Given the description of an element on the screen output the (x, y) to click on. 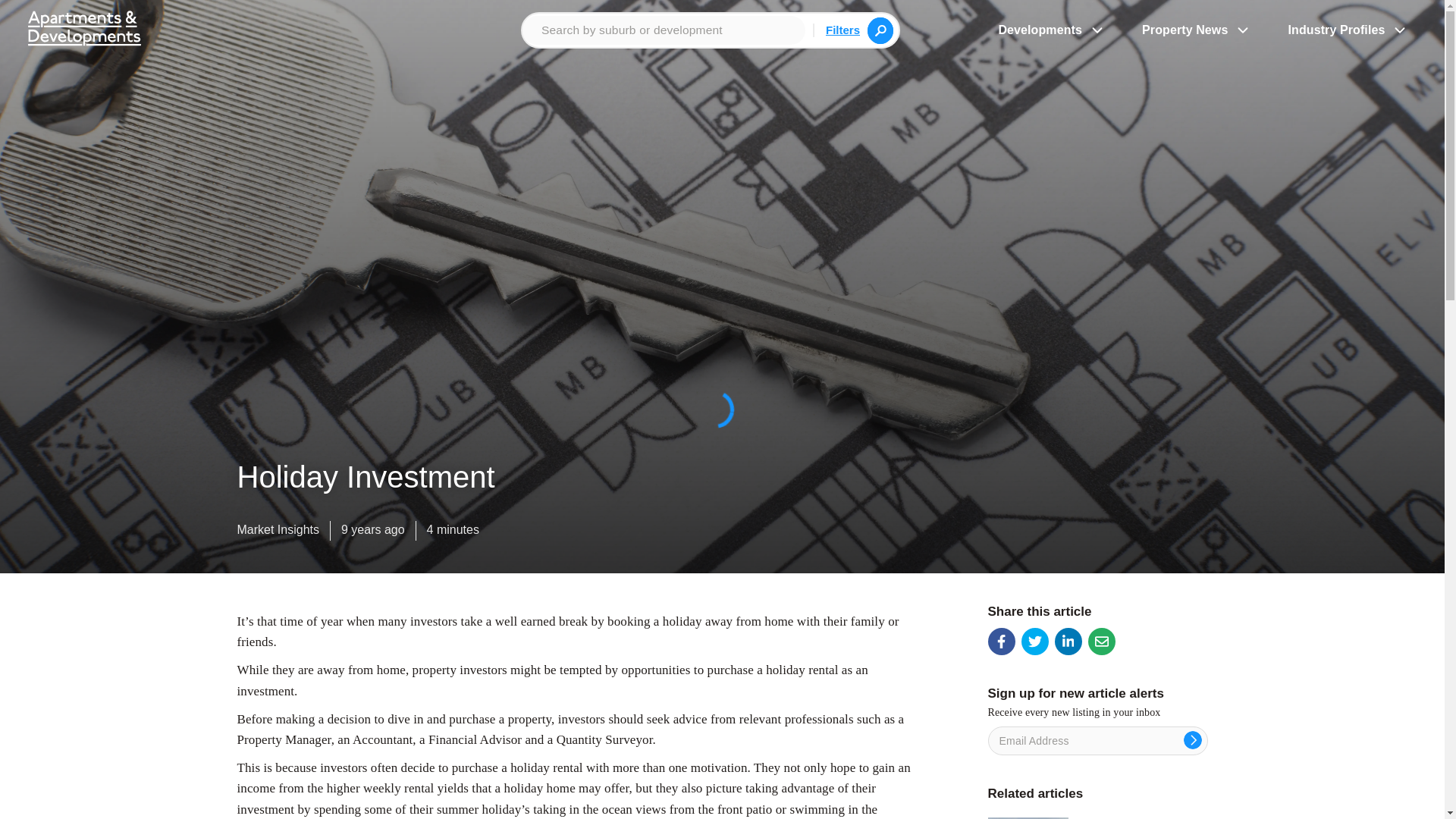
Market Insights (276, 532)
Filters (842, 29)
